Given the description of an element on the screen output the (x, y) to click on. 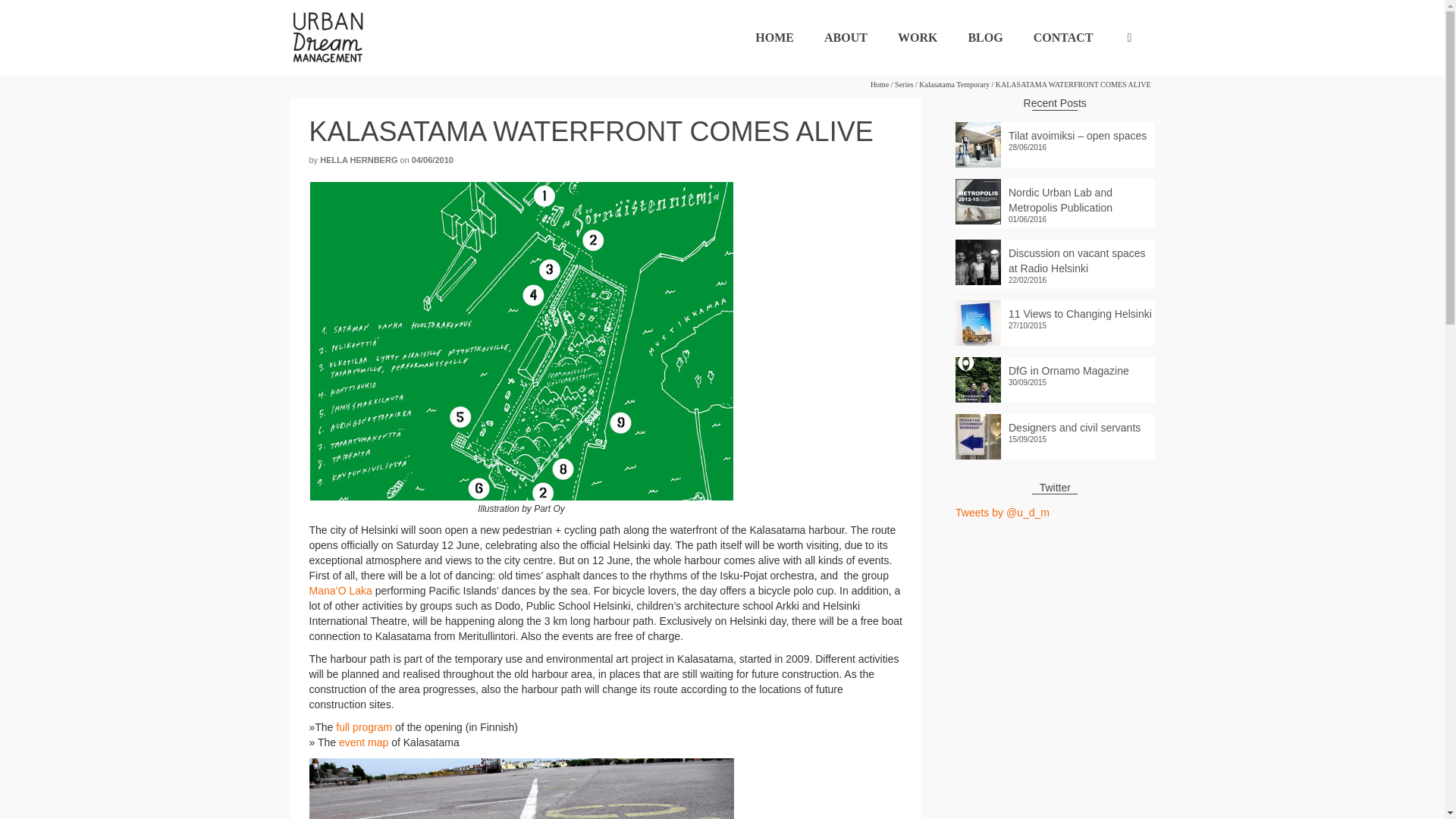
ABOUT (845, 38)
full program (363, 727)
CONTACT (1062, 38)
event map (363, 742)
Home (879, 84)
Kalasatama Temporary (954, 84)
WORK (917, 38)
HOME (774, 38)
Series (903, 84)
HELLA HERNBERG (358, 159)
